Given the description of an element on the screen output the (x, y) to click on. 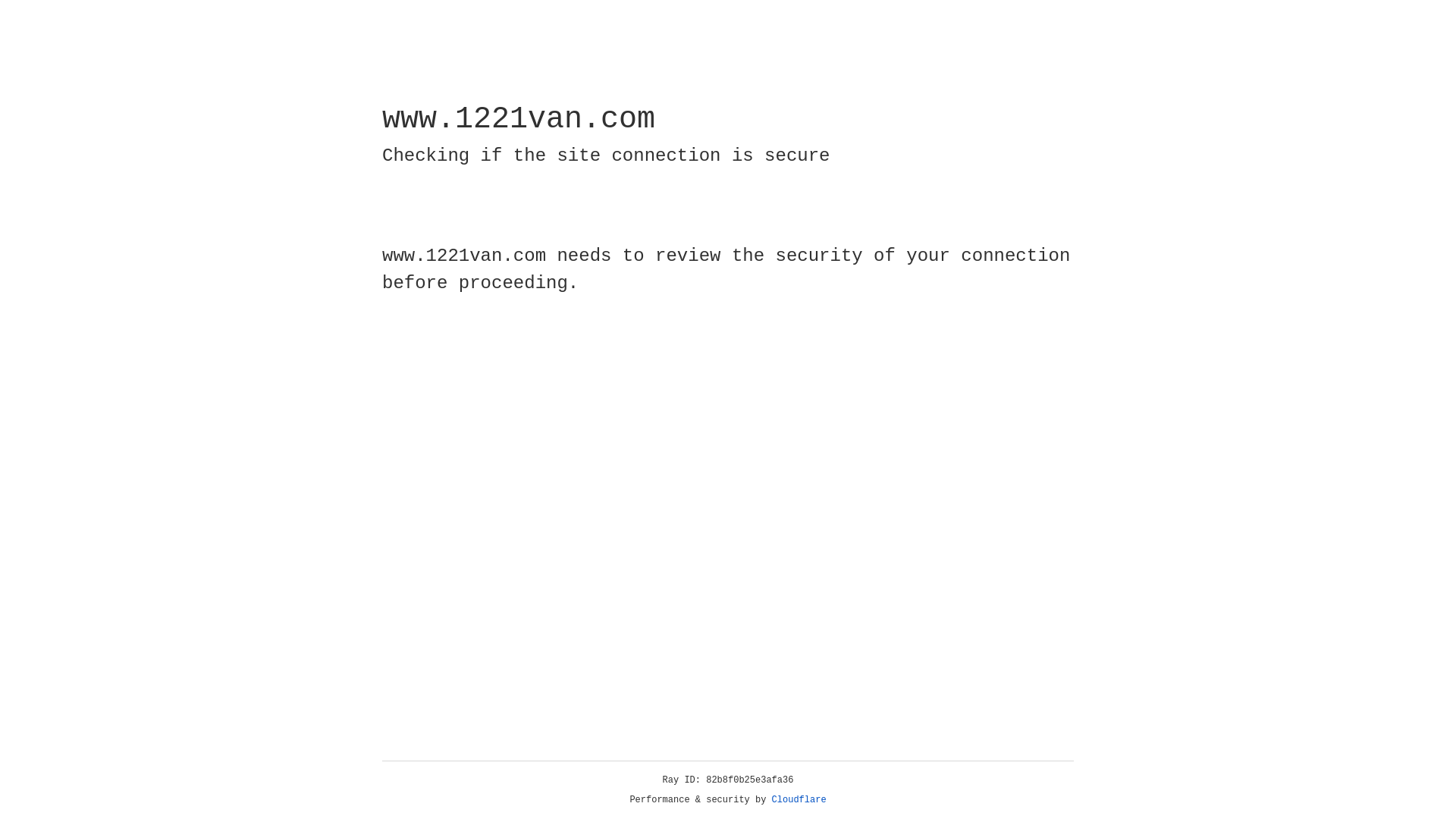
Cloudflare Element type: text (798, 799)
